Given the description of an element on the screen output the (x, y) to click on. 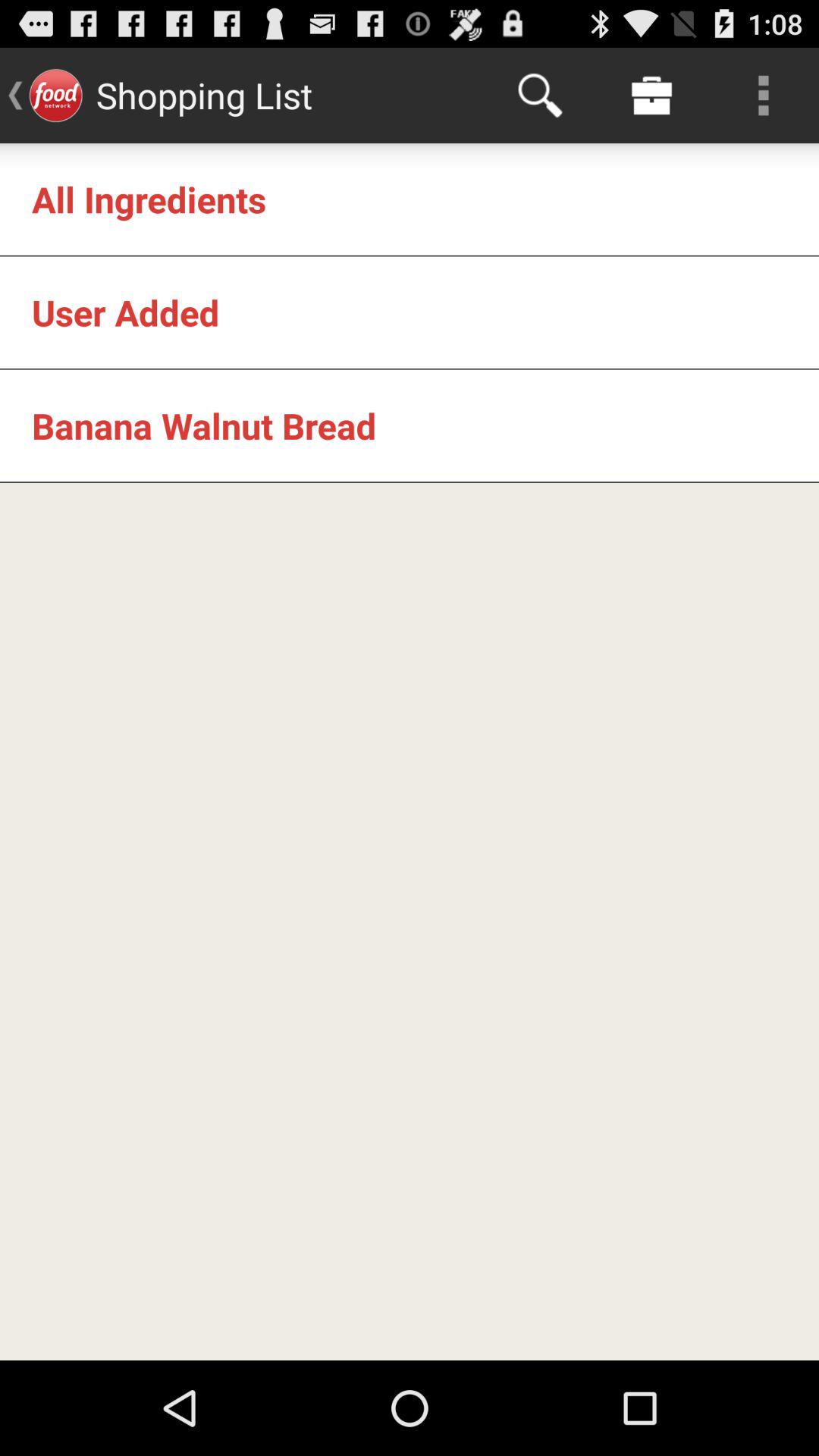
swipe until the user added app (125, 312)
